Given the description of an element on the screen output the (x, y) to click on. 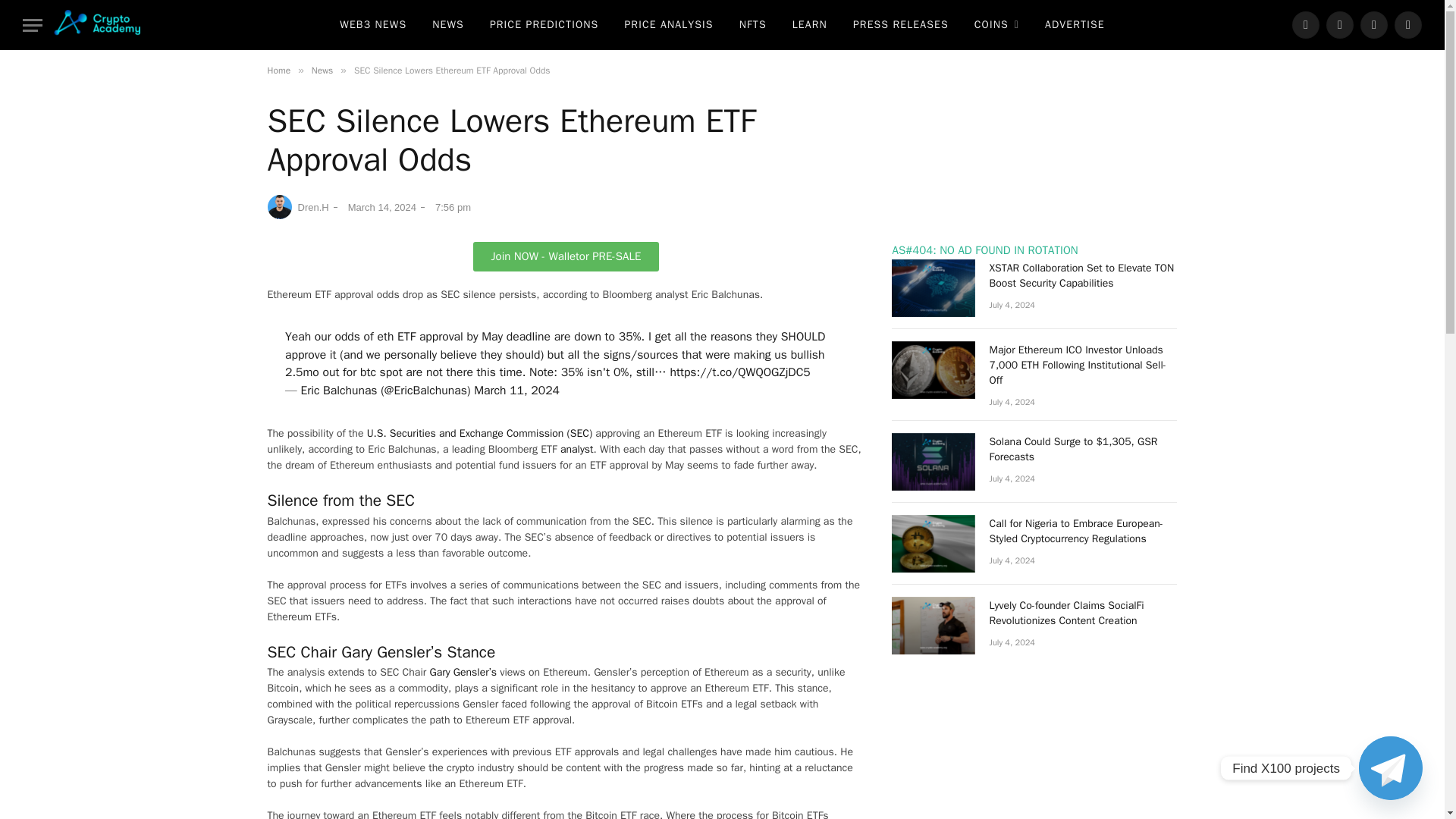
Telegram (1408, 24)
PRICE PREDICTIONS (544, 24)
Join NOW - Walletor PRE-SALE (566, 256)
NEWS (448, 24)
PRESS RELEASES (900, 24)
Facebook (1305, 24)
March 11, 2024 (516, 390)
March 14, 2024 (379, 207)
Dren.H (297, 206)
WEB3 NEWS (372, 24)
ADVERTISE (1075, 24)
Instagram (1373, 24)
PRICE ANALYSIS (668, 24)
